Given the description of an element on the screen output the (x, y) to click on. 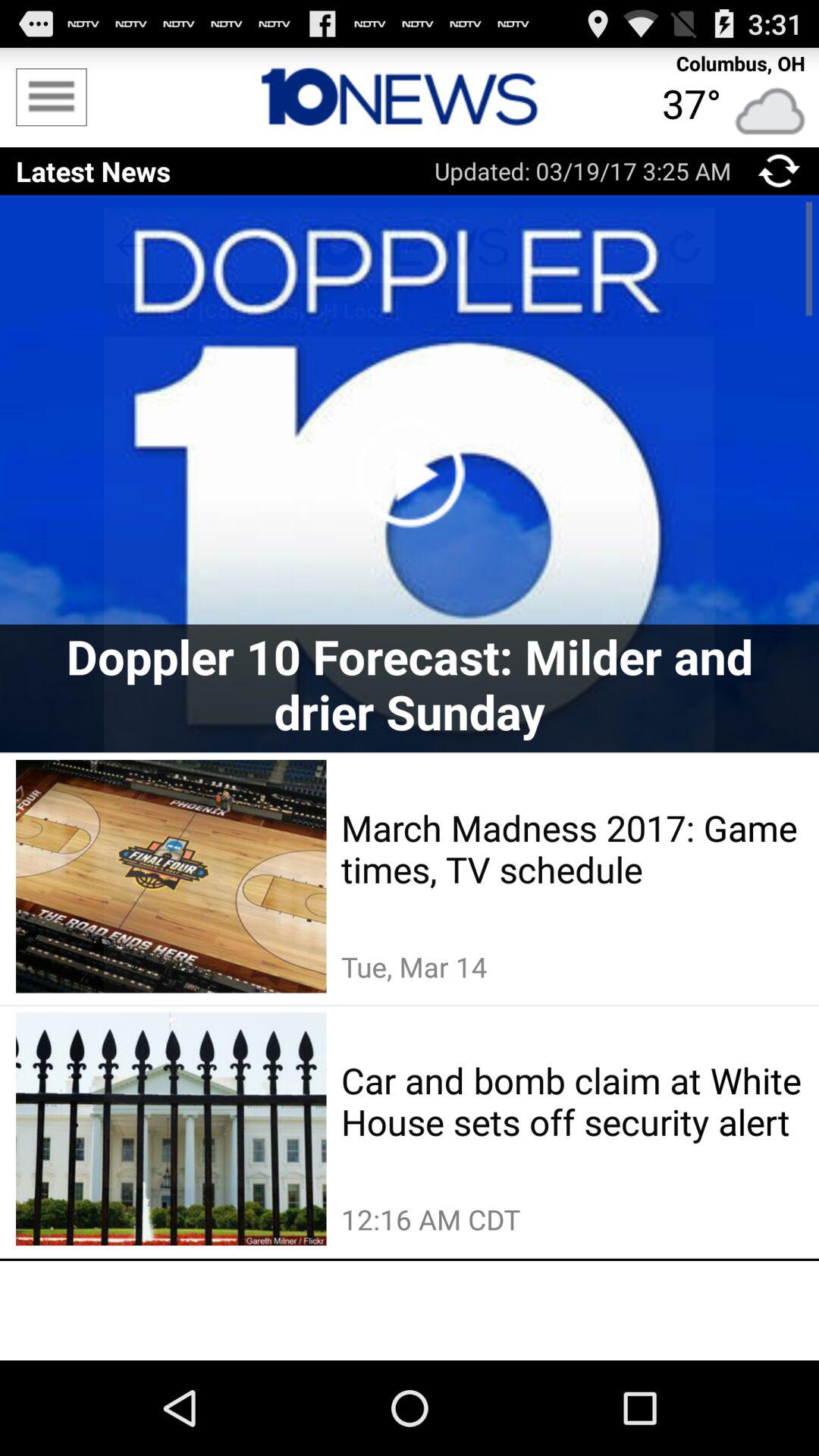
jump until the car and bomb item (572, 1100)
